Given the description of an element on the screen output the (x, y) to click on. 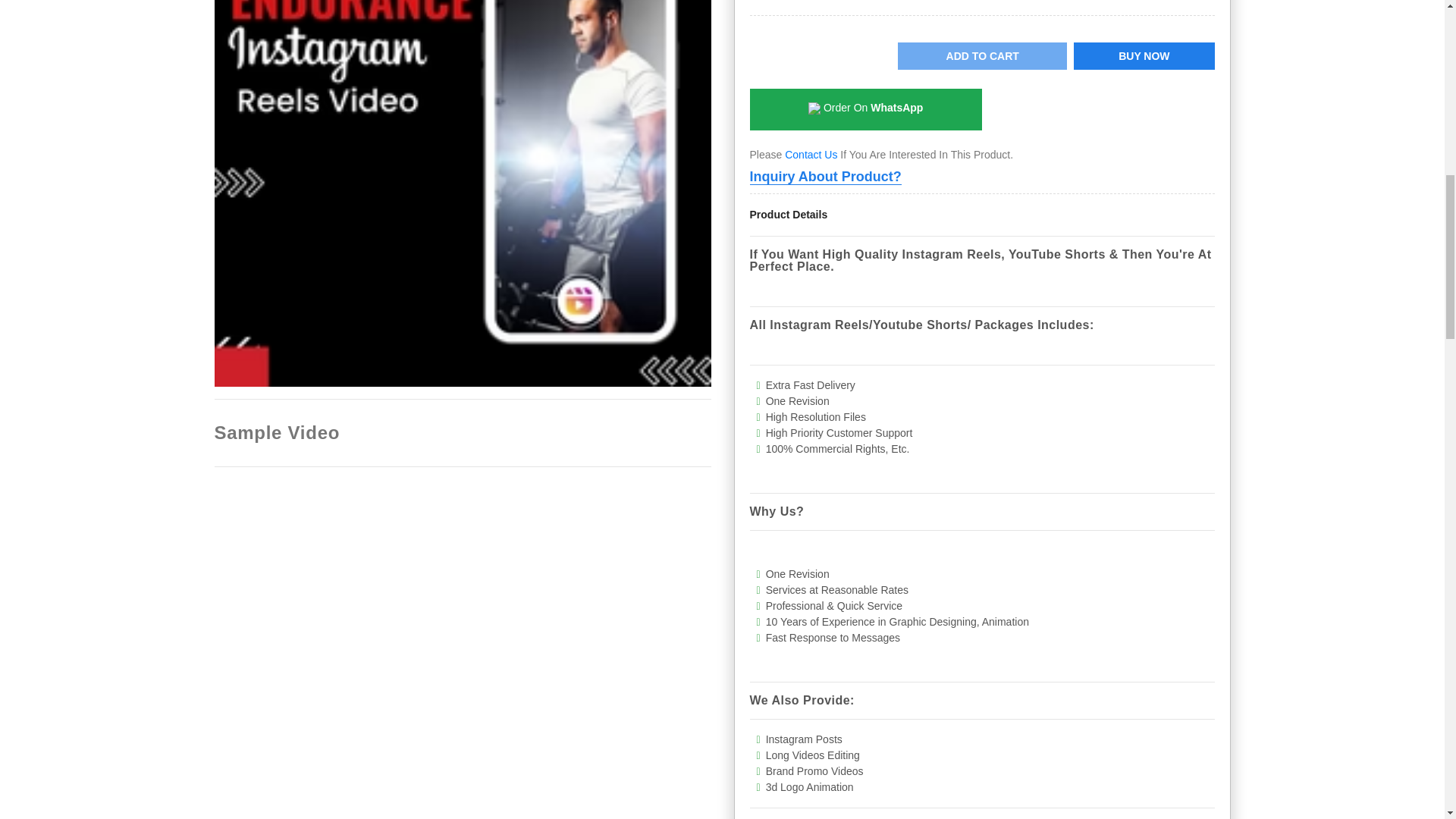
Contact Us (810, 154)
Inquiry About Product? (825, 176)
BUY NOW (1144, 55)
Order On WhatsApp (865, 109)
ADD TO CART (982, 55)
